Given the description of an element on the screen output the (x, y) to click on. 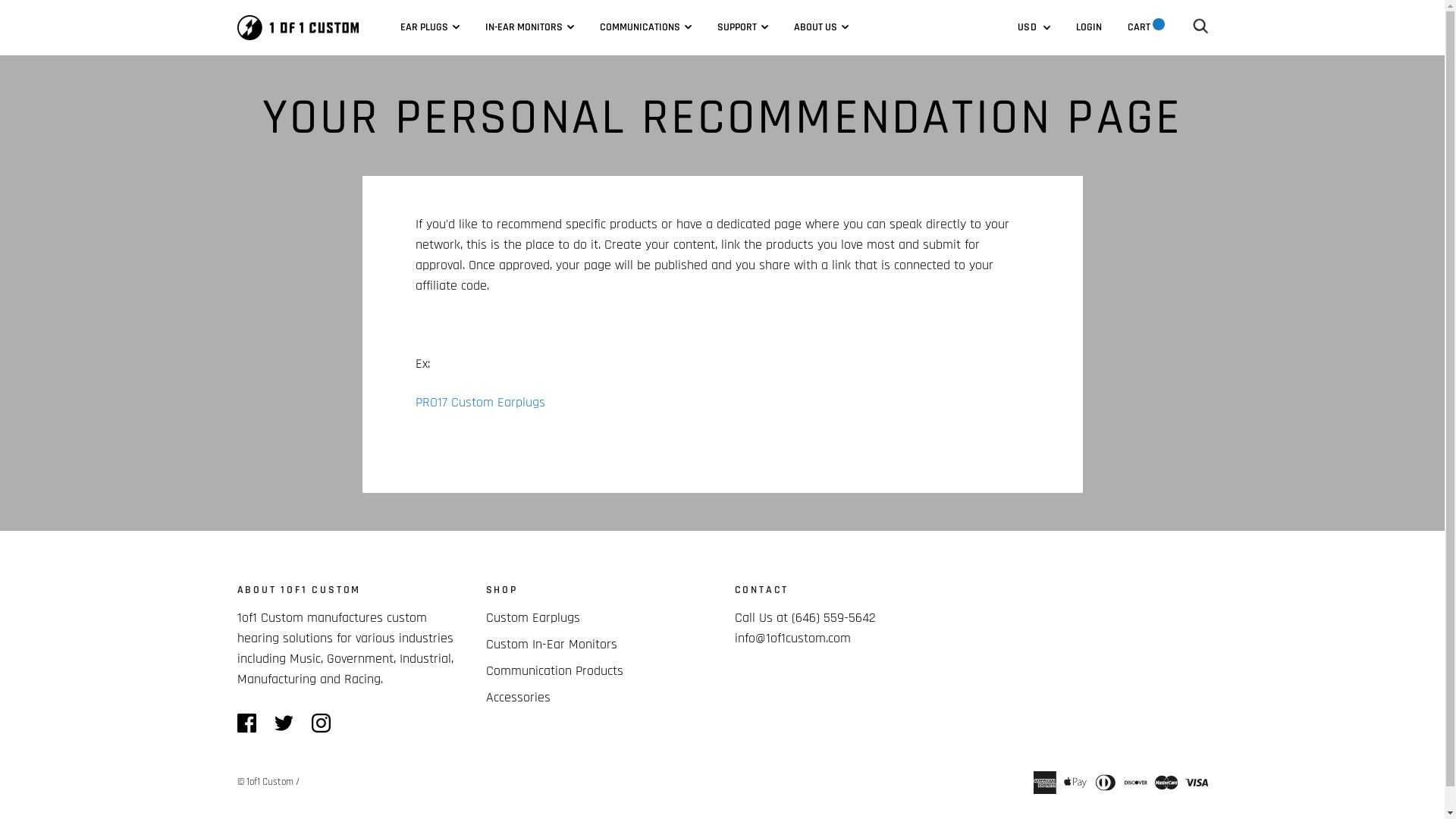
PRO17 Custom Earplugs Element type: text (480, 402)
IN-EAR MONITORS Element type: text (529, 27)
LOGIN Element type: text (1088, 27)
Communication Products Element type: text (553, 670)
EAR PLUGS Element type: text (429, 27)
CART Element type: text (1145, 27)
Instagram Element type: text (319, 722)
info@1of1custom.com Element type: text (792, 637)
Custom In-Ear Monitors Element type: text (550, 643)
COMMUNICATIONS Element type: text (644, 27)
SUPPORT Element type: text (742, 27)
Facebook Element type: text (245, 722)
Custom Earplugs Element type: text (532, 617)
ABOUT US Element type: text (820, 27)
Twitter Element type: text (283, 722)
Accessories Element type: text (517, 697)
